Given the description of an element on the screen output the (x, y) to click on. 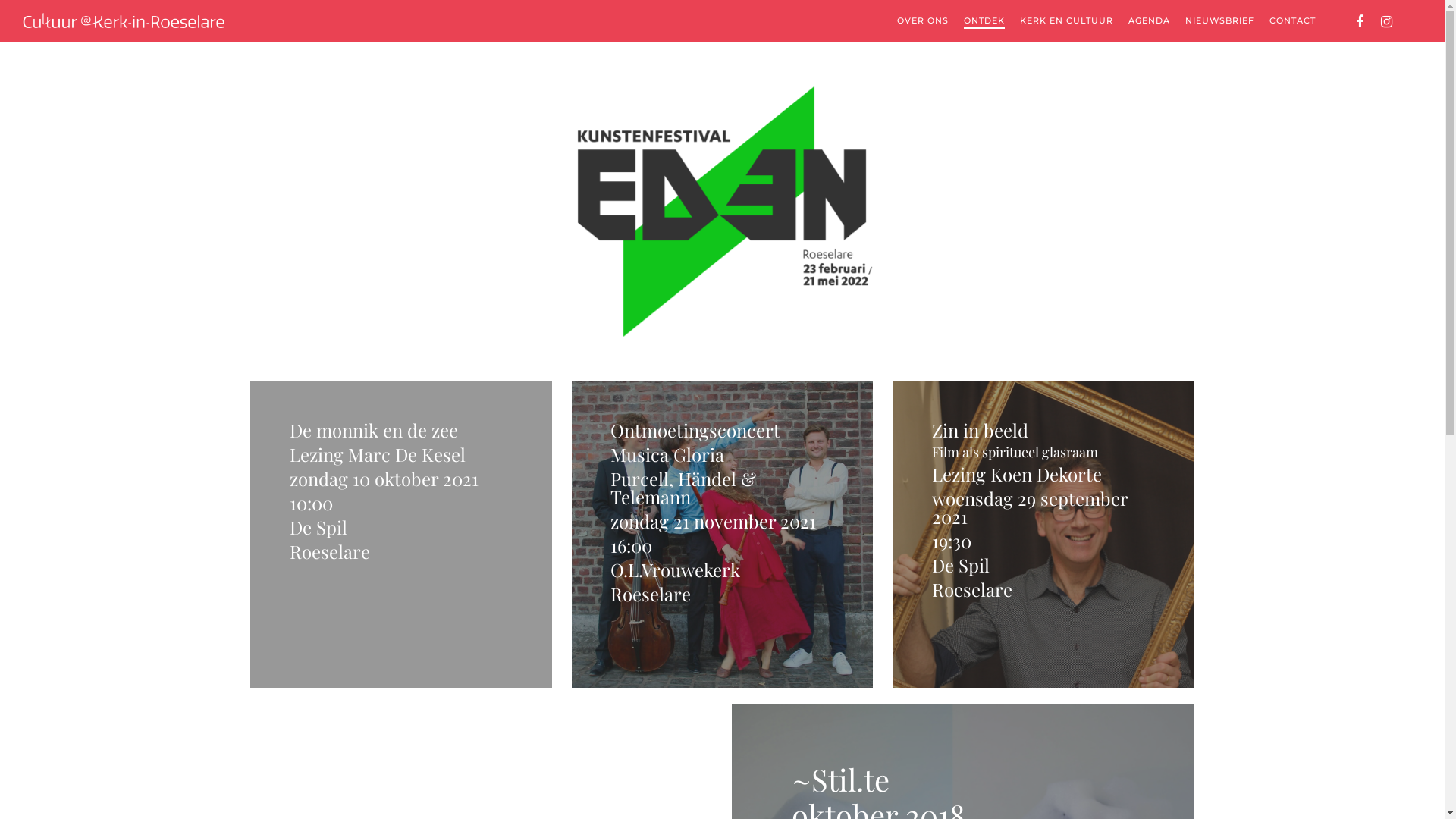
OVER ONS Element type: text (922, 20)
AGENDA Element type: text (1149, 20)
NIEUWSBRIEF Element type: text (1219, 20)
ONTDEK Element type: text (983, 20)
KERK EN CULTUUR Element type: text (1066, 20)
CONTACT Element type: text (1292, 20)
